Given the description of an element on the screen output the (x, y) to click on. 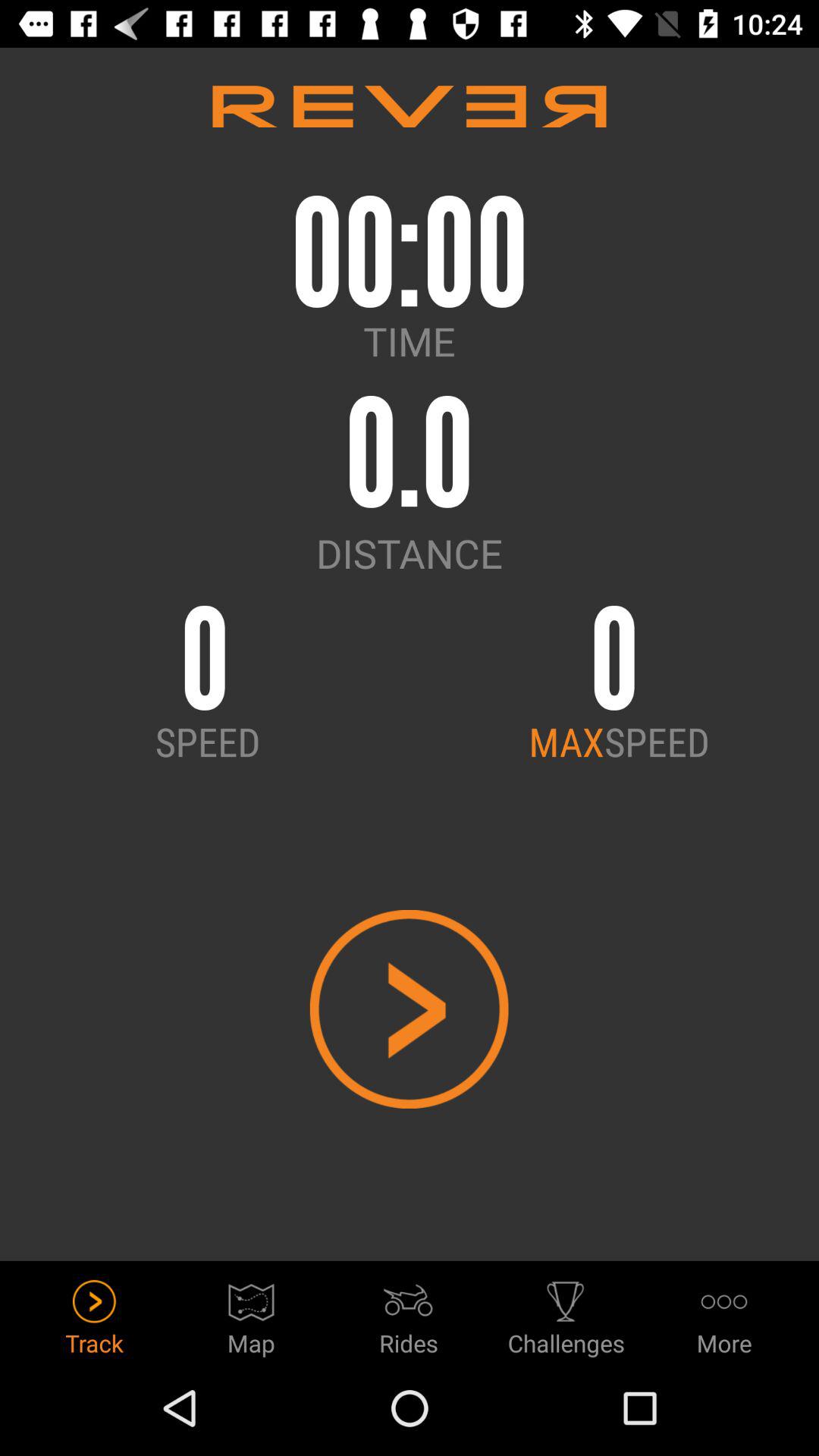
scroll to the rides (408, 1313)
